Given the description of an element on the screen output the (x, y) to click on. 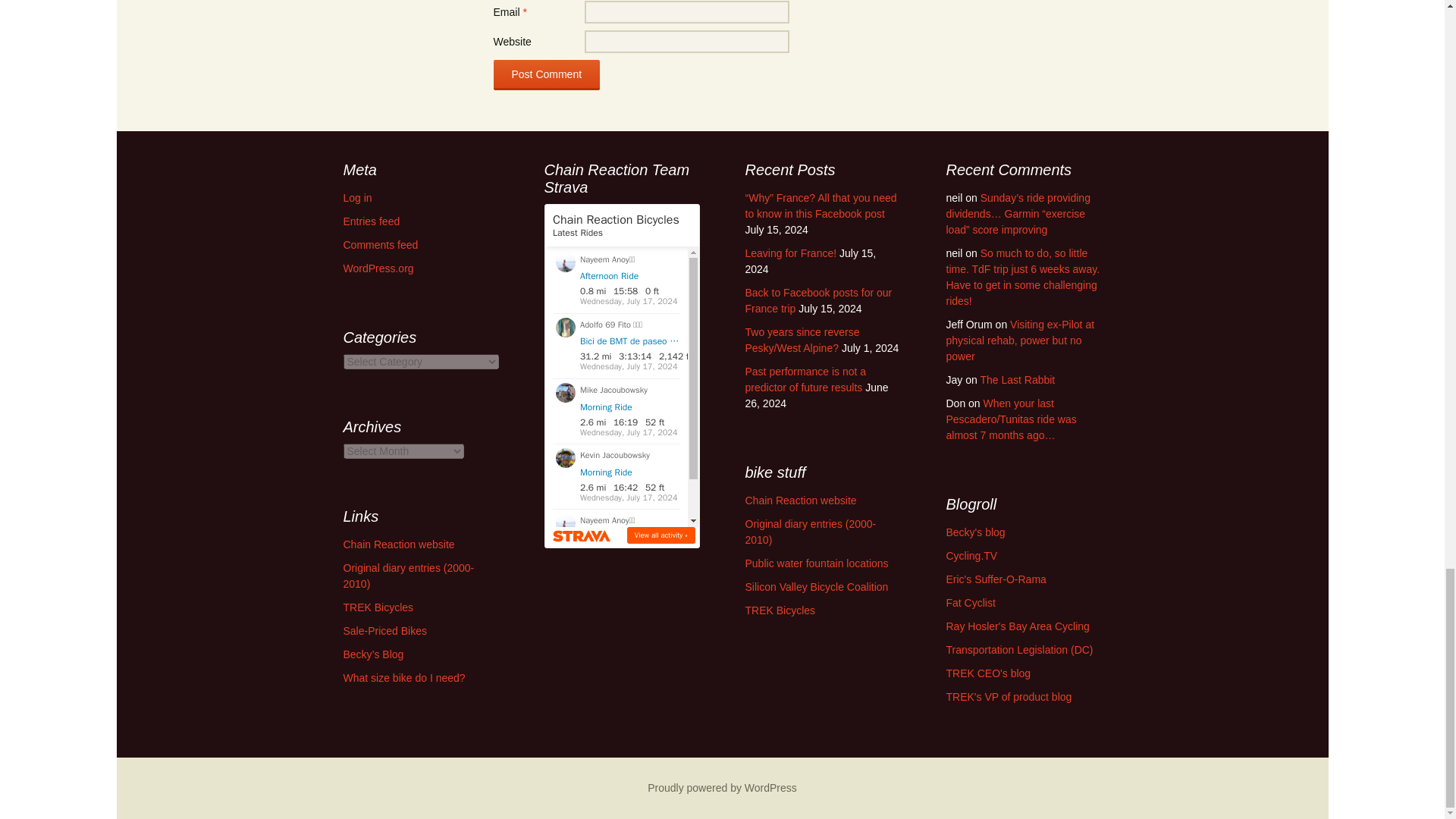
Latest tech stuff for bikes (971, 555)
Log in (356, 197)
WordPress.org (377, 268)
Chain Reaction Bicycles main website (800, 500)
Comments feed (379, 244)
Entries feed (370, 221)
Post Comment (546, 74)
Past performance is not a predictor of future results (805, 379)
Back to Facebook posts for our France trip (817, 300)
Leaving for France! (789, 253)
Post Comment (546, 74)
TREK Bicycles (779, 610)
